Given the description of an element on the screen output the (x, y) to click on. 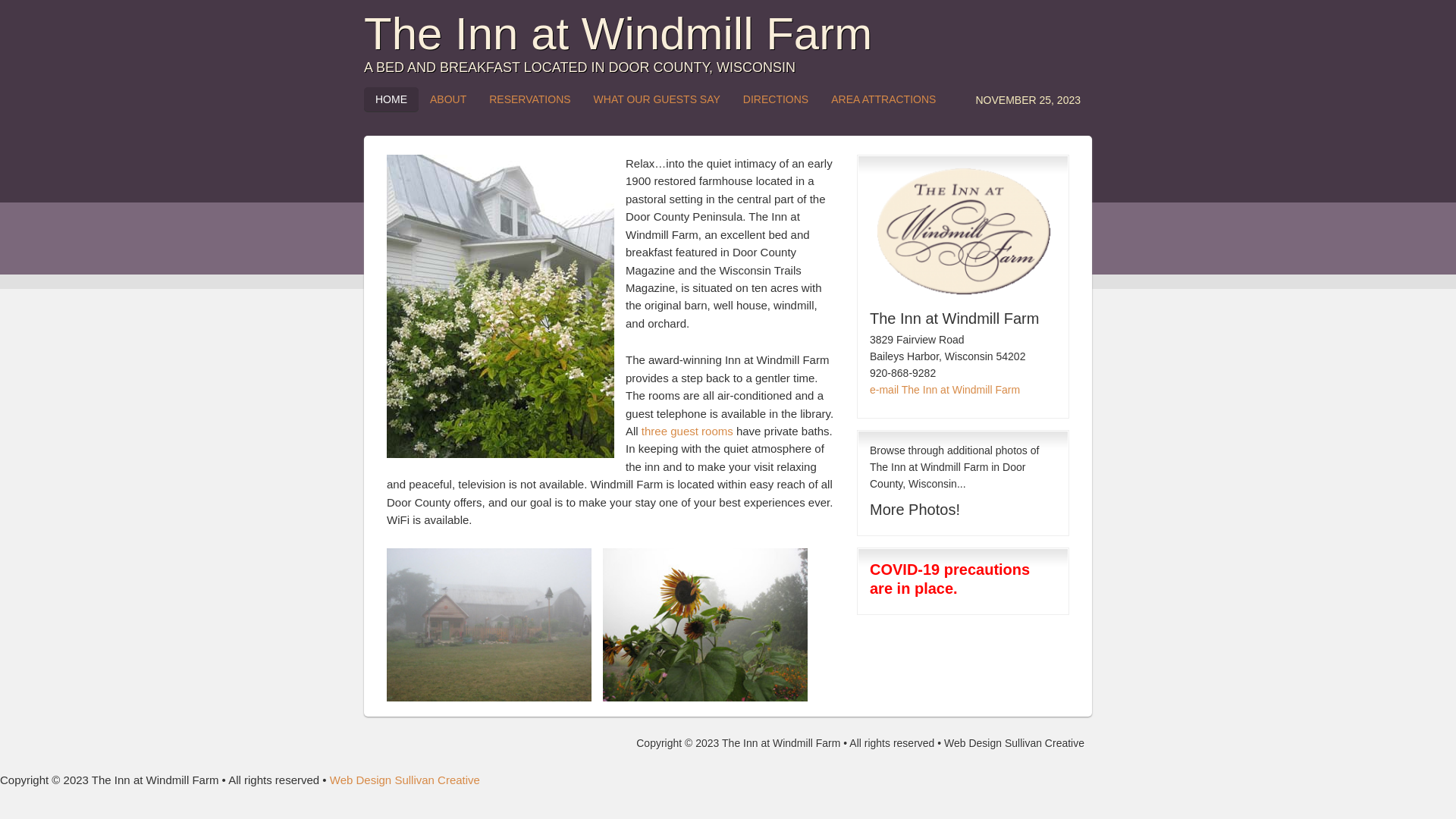
Barn in fog Element type: hover (488, 625)
AREA ATTRACTIONS Element type: text (883, 99)
The Inn at Windmill Farm Element type: hover (500, 306)
More Photos! Element type: text (914, 509)
HOME Element type: text (391, 99)
Web Design Sullivan Creative Element type: text (1014, 743)
RESERVATIONS Element type: text (529, 99)
The Inn at Windmill Farm Element type: text (618, 33)
e-mail The Inn at Windmill Farm Element type: text (944, 389)
three guest rooms Element type: text (687, 430)
Sunflowers in fog Element type: hover (704, 625)
DIRECTIONS Element type: text (775, 99)
Web Design Sullivan Creative Element type: text (404, 779)
ABOUT Element type: text (447, 99)
WHAT OUR GUESTS SAY Element type: text (656, 99)
